Given the description of an element on the screen output the (x, y) to click on. 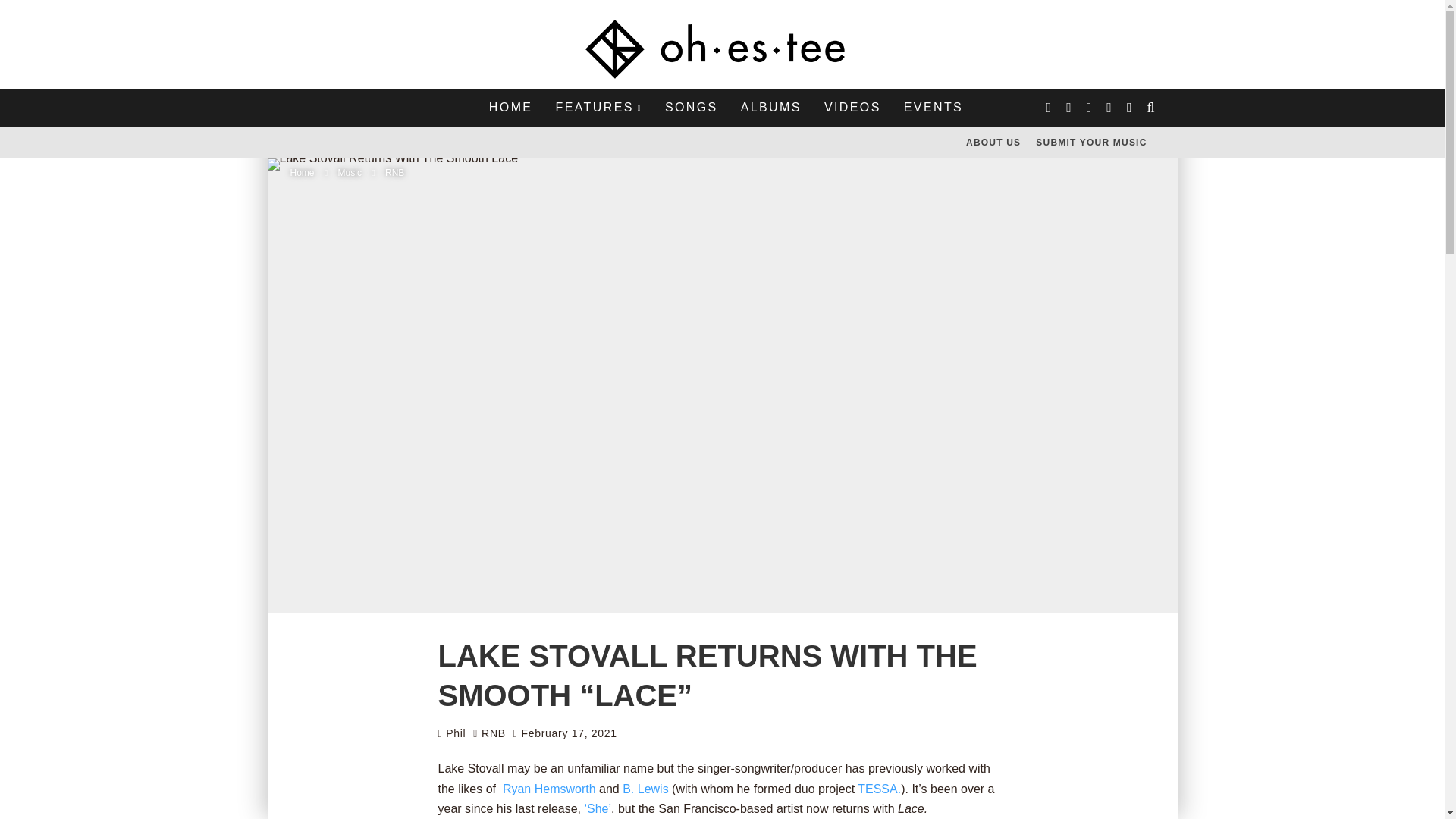
HOME (510, 107)
FEATURES (597, 107)
SONGS (691, 107)
